Given the description of an element on the screen output the (x, y) to click on. 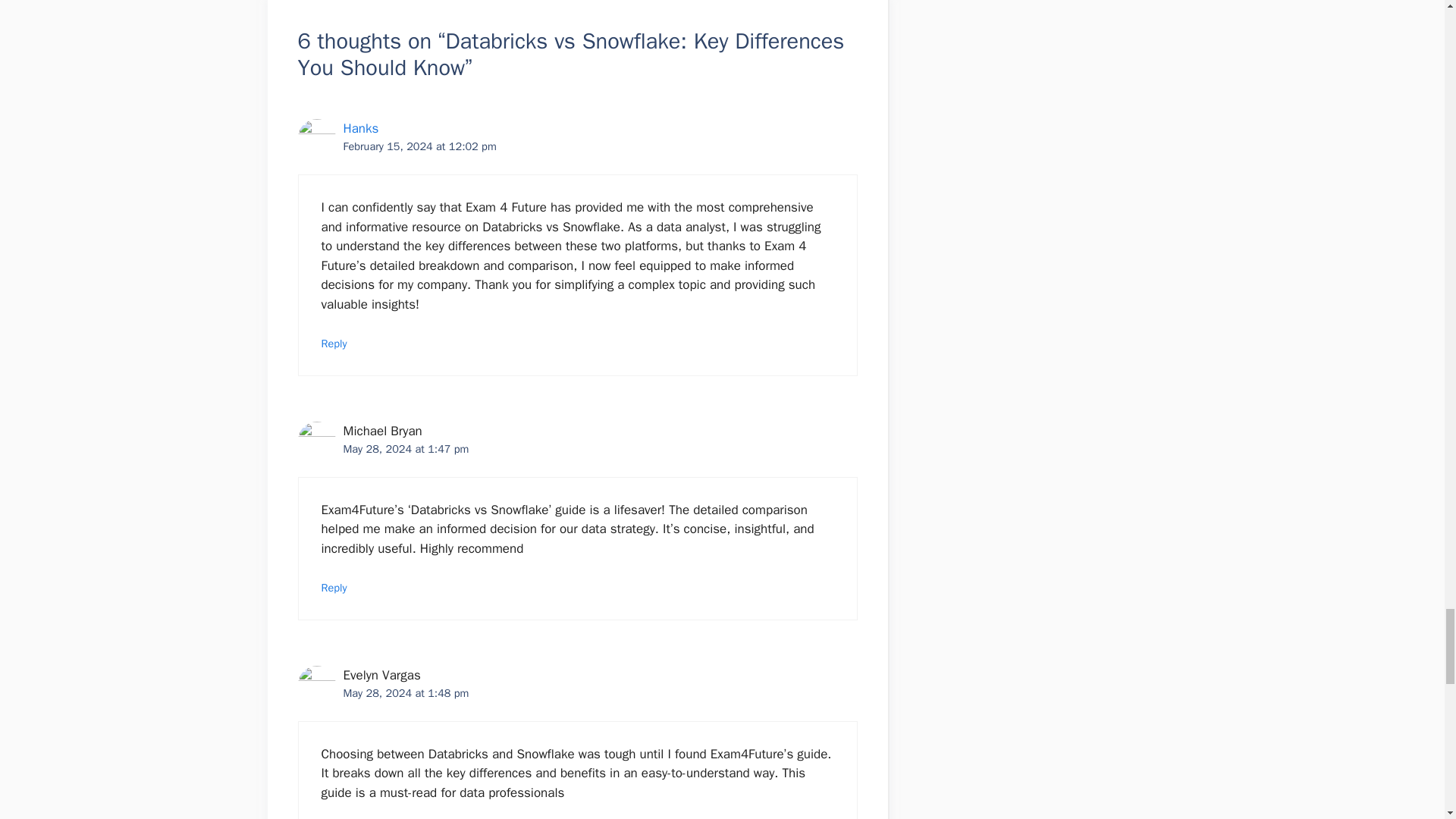
Hanks (360, 128)
Reply (334, 587)
May 28, 2024 at 1:48 pm (405, 693)
Reply (334, 343)
February 15, 2024 at 12:02 pm (419, 146)
May 28, 2024 at 1:47 pm (405, 448)
